Given the description of an element on the screen output the (x, y) to click on. 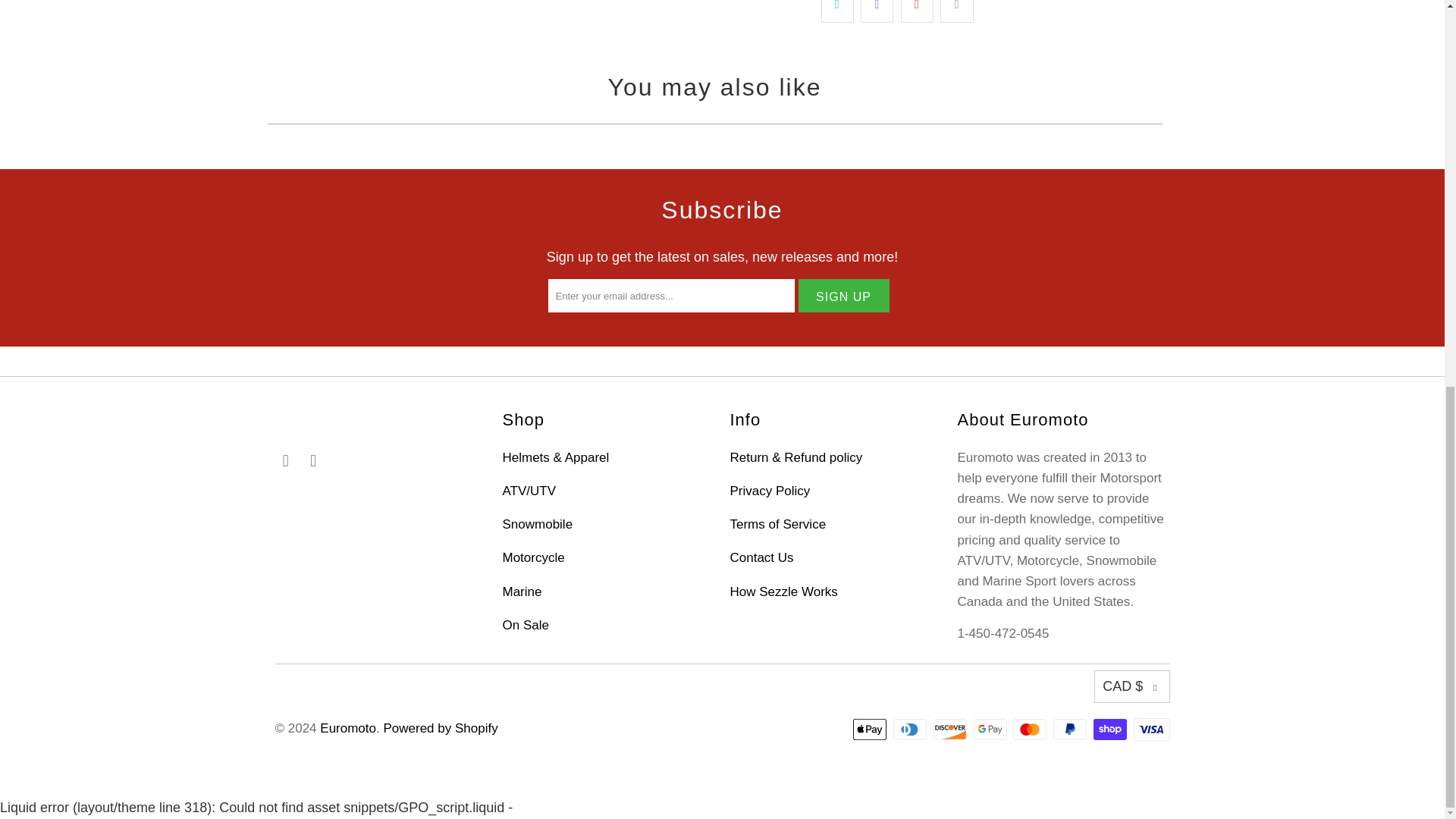
Share this on Twitter (837, 11)
Shop Pay (1111, 729)
Share this on Pinterest (917, 11)
Euromoto on Facebook (286, 461)
PayPal (1070, 729)
Mastercard (1031, 729)
Share this on Facebook (876, 11)
Email Euromoto (313, 461)
Sign Up (842, 295)
Discover (951, 729)
Email this to a friend (956, 11)
Apple Pay (871, 729)
Diners Club (911, 729)
Google Pay (992, 729)
Visa (1150, 729)
